Given the description of an element on the screen output the (x, y) to click on. 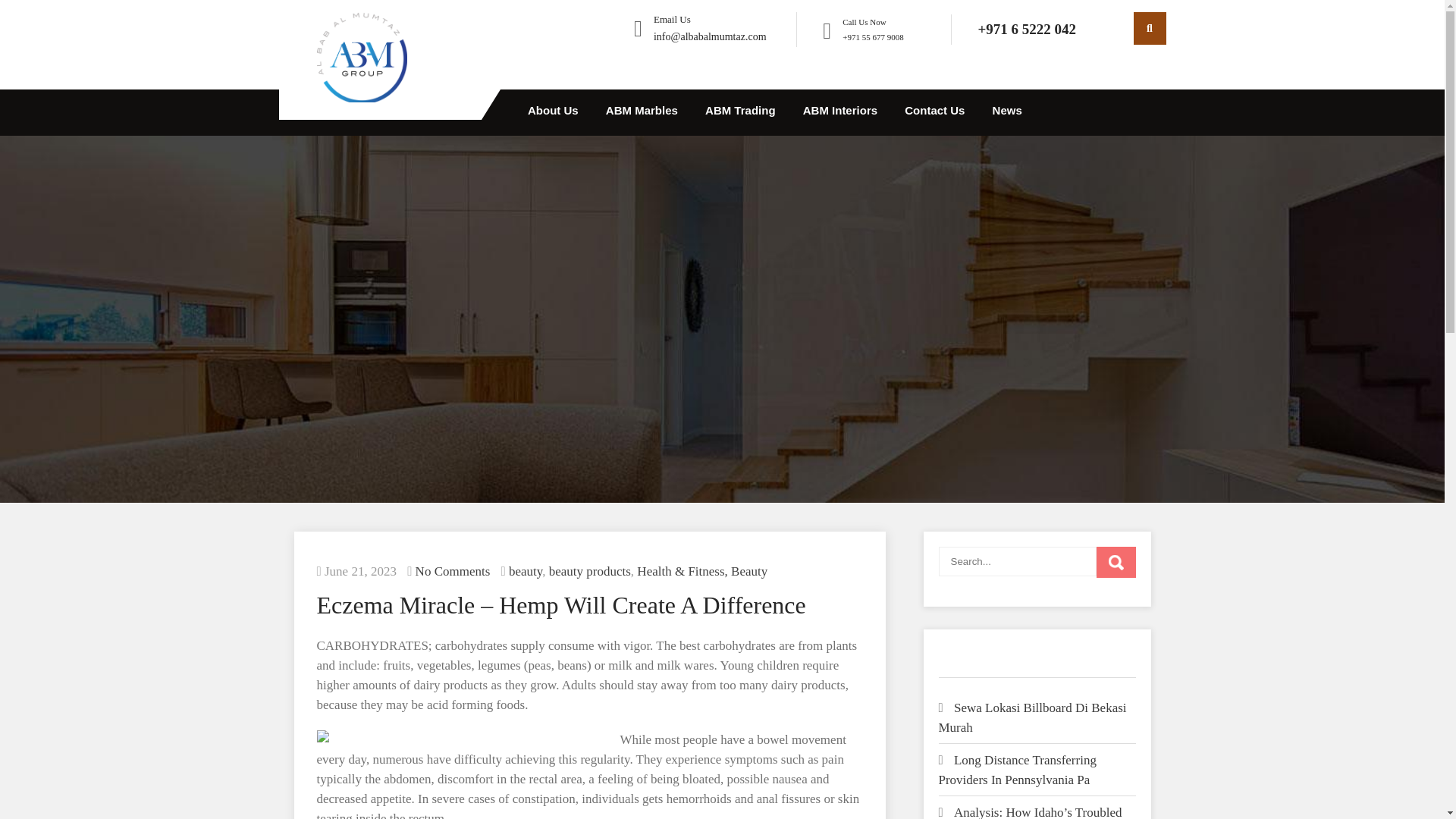
beauty products (589, 571)
View all posts in beauty (524, 571)
No Comments (452, 571)
ABM Marbles (642, 112)
Long Distance Transferring Providers In Pennsylvania Pa (1017, 769)
Search (1115, 562)
beauty (524, 571)
Search (1115, 562)
